Given the description of an element on the screen output the (x, y) to click on. 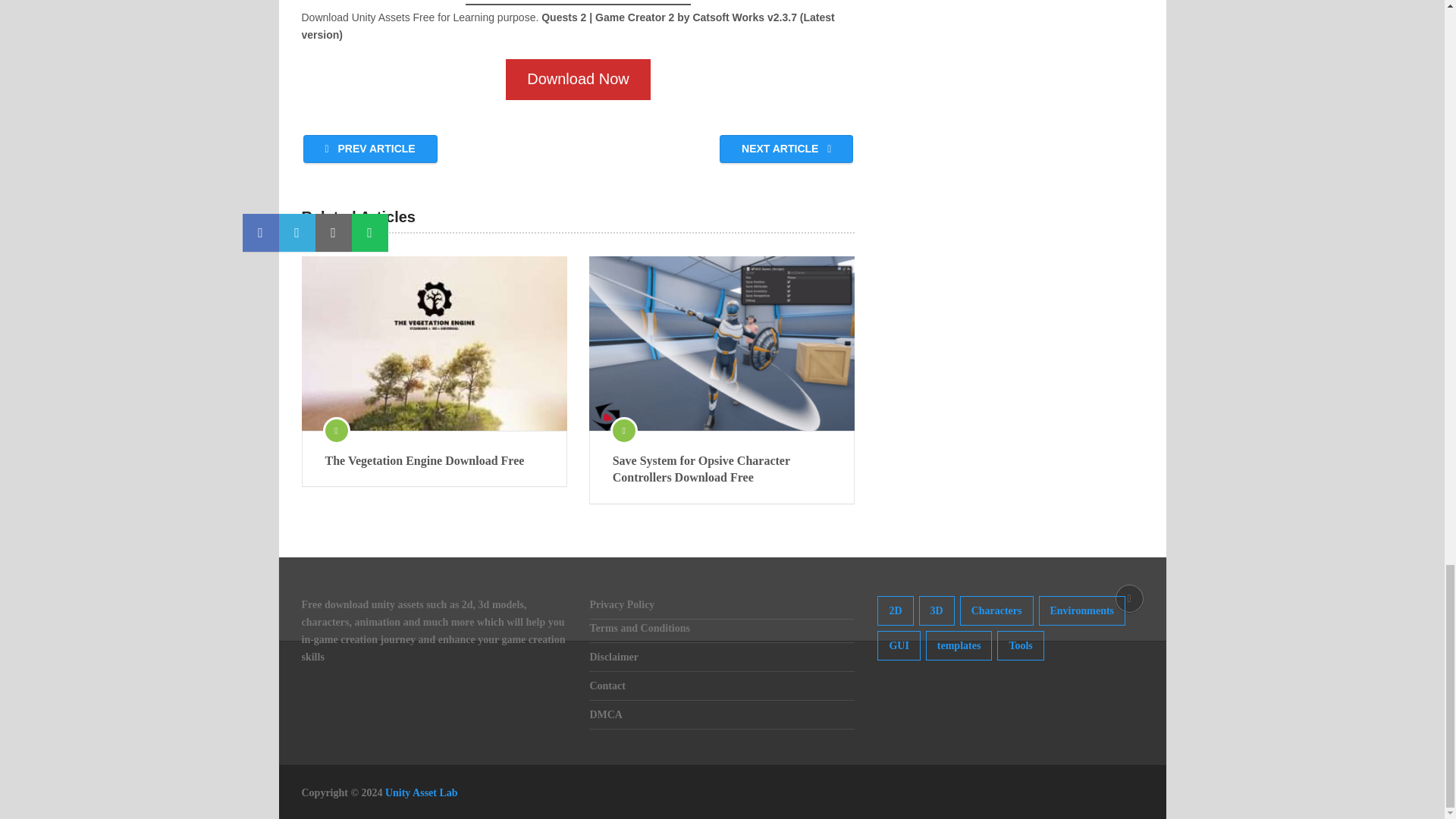
The Vegetation Engine Download Free (433, 460)
Save System for Opsive Character Controllers Download Free (721, 343)
Save System for Opsive Character Controllers Download Free (721, 469)
The Vegetation Engine Download Free (434, 343)
